Given the description of an element on the screen output the (x, y) to click on. 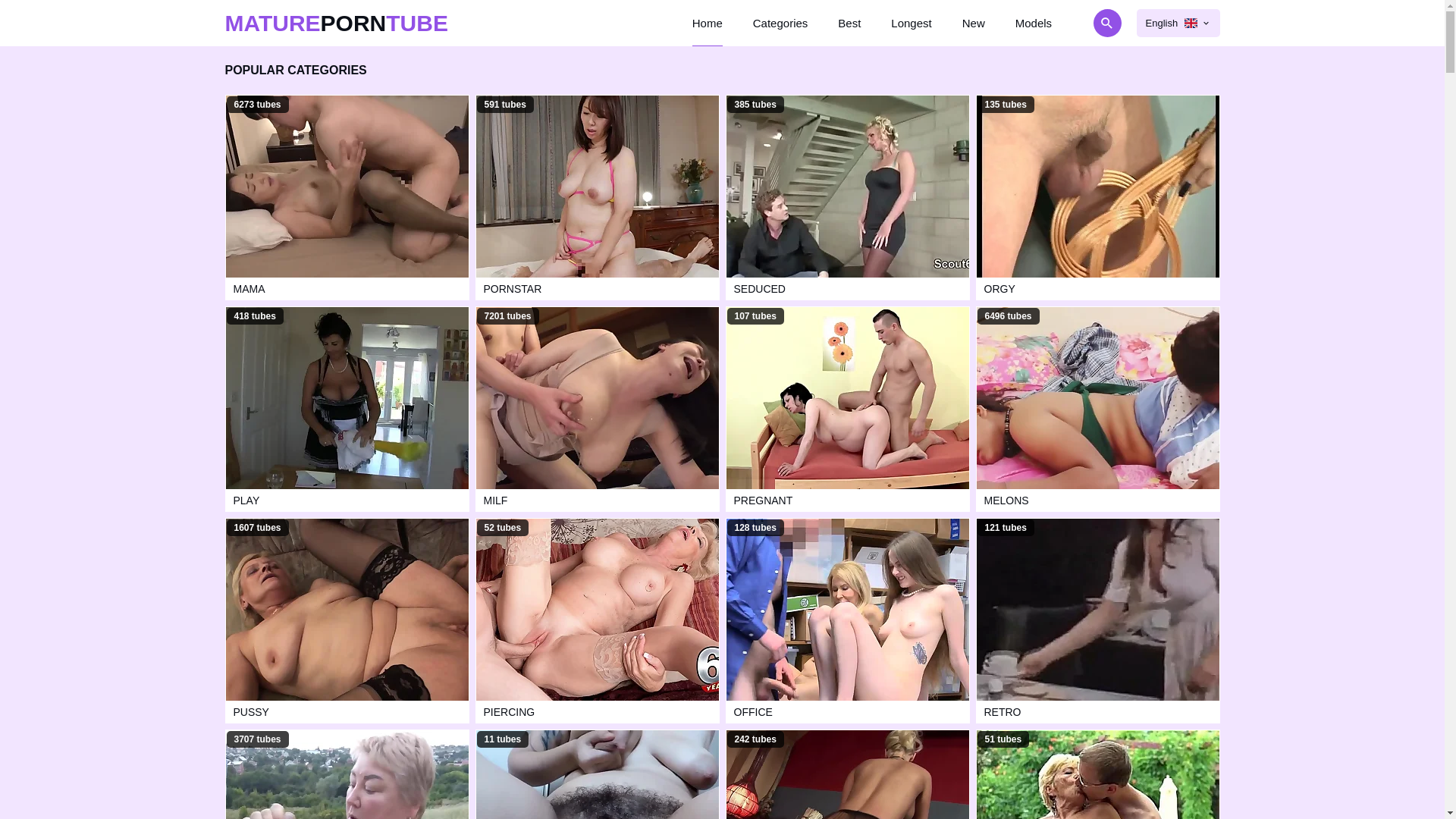
6496 tubes
MELONS Element type: text (1097, 408)
6273 tubes
MAMA Element type: text (346, 197)
Search Element type: text (1064, 23)
591 tubes
PORNSTAR Element type: text (596, 197)
128 tubes
OFFICE Element type: text (846, 620)
385 tubes
SEDUCED Element type: text (846, 197)
Home Element type: text (707, 22)
121 tubes
RETRO Element type: text (1097, 620)
107 tubes
PREGNANT Element type: text (846, 408)
1607 tubes
PUSSY Element type: text (346, 620)
MATUREPORNTUBE Element type: text (335, 23)
Categories Element type: text (780, 22)
418 tubes
PLAY Element type: text (346, 408)
English Element type: text (1178, 23)
Models Element type: text (1033, 22)
7201 tubes
MILF Element type: text (596, 408)
Best Element type: text (848, 22)
52 tubes
PIERCING Element type: text (596, 620)
135 tubes
ORGY Element type: text (1097, 197)
New Element type: text (973, 22)
Longest Element type: text (911, 22)
